Given the description of an element on the screen output the (x, y) to click on. 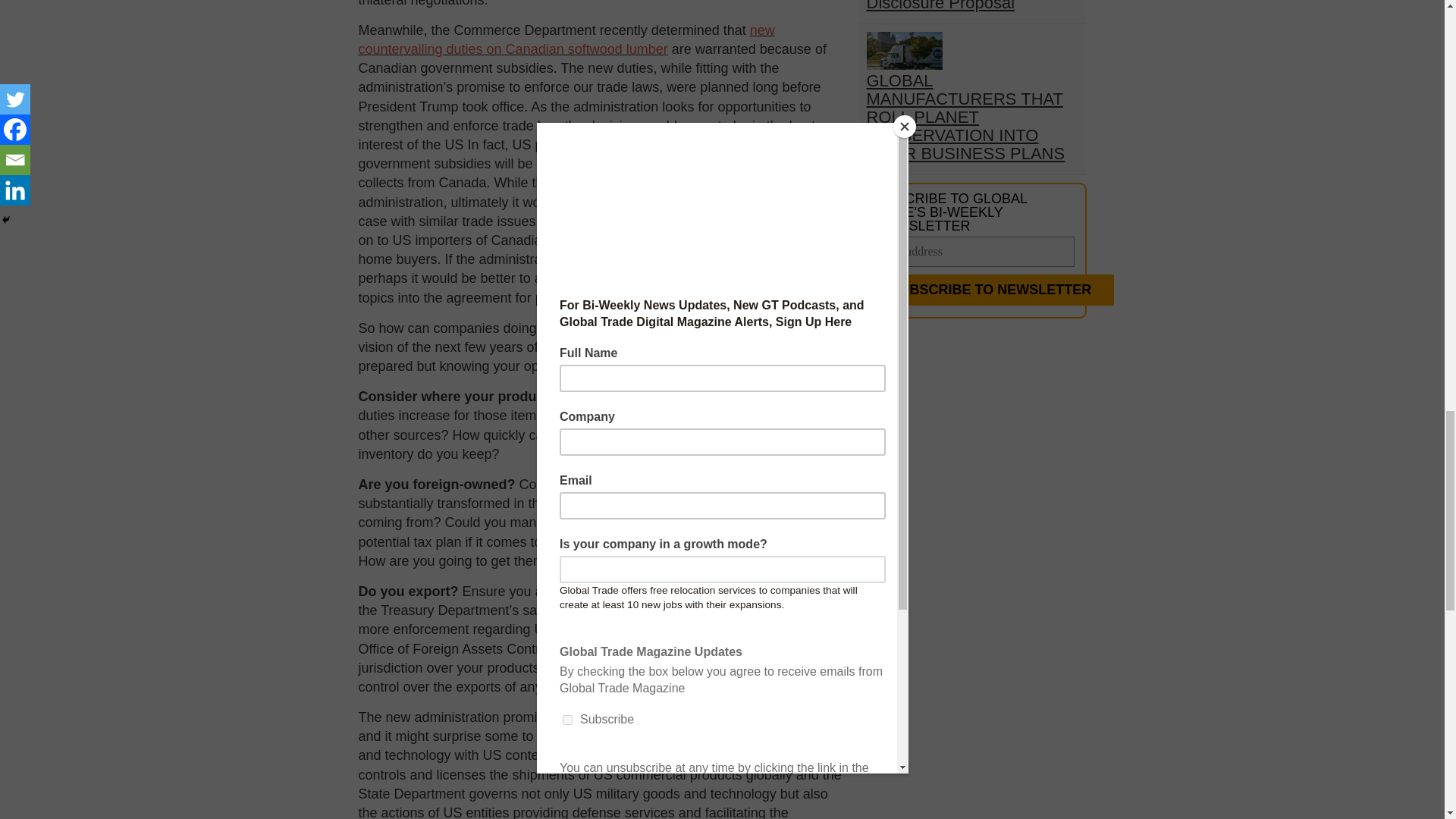
Subscribe to Newsletter (990, 289)
